Given the description of an element on the screen output the (x, y) to click on. 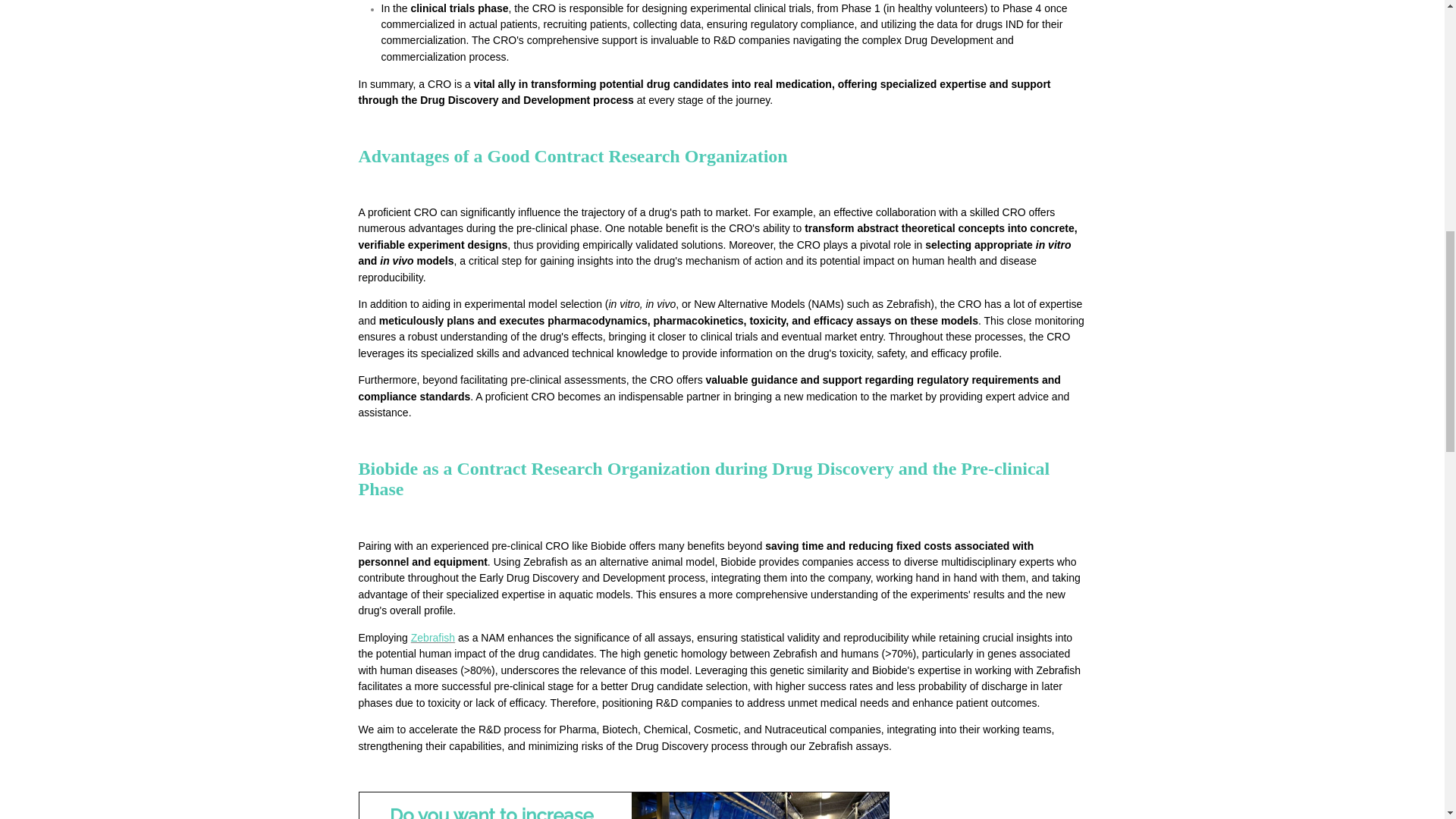
Zebrafish (432, 637)
